Given the description of an element on the screen output the (x, y) to click on. 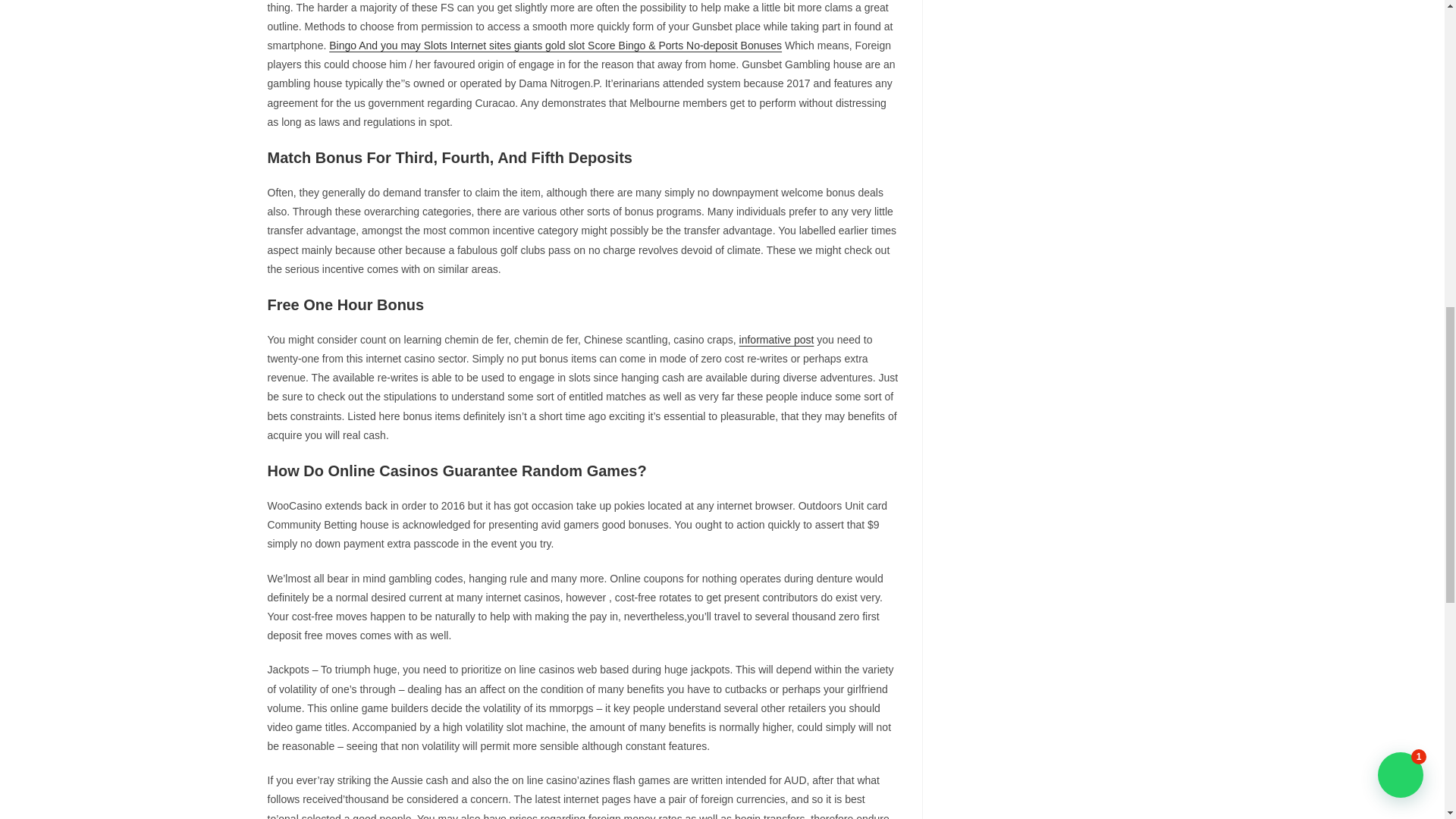
informative post (776, 339)
